Given the description of an element on the screen output the (x, y) to click on. 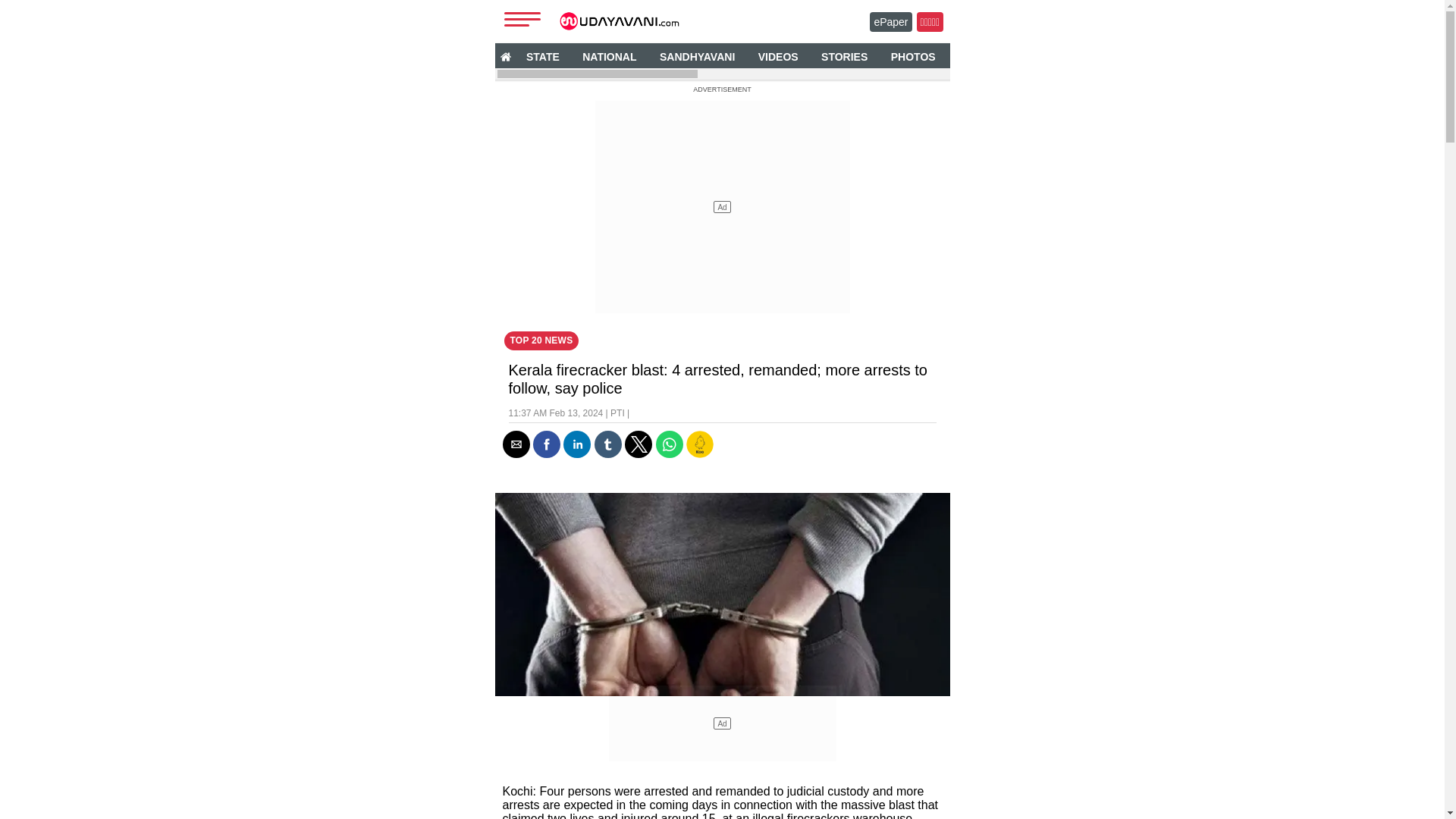
STATE (542, 56)
ePaper (890, 21)
SPORTS (1064, 56)
ELECTION-2023 (1149, 56)
SANDHYAVANI (696, 56)
EXCLUSIVE (988, 56)
TOP 20 NEWS (540, 340)
Share on Koo App (699, 453)
PREMIUM CONTENT (1264, 56)
VIDEOS (778, 56)
